Given the description of an element on the screen output the (x, y) to click on. 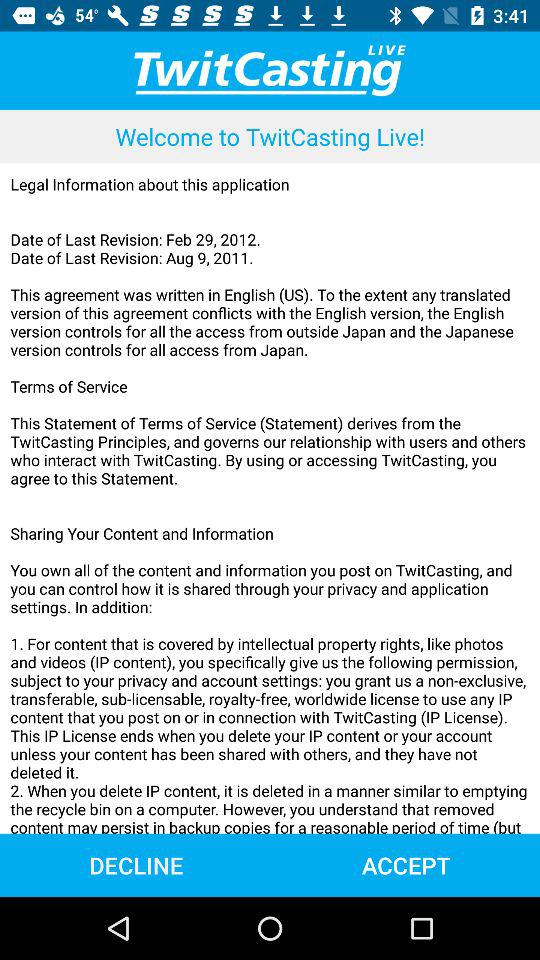
press item next to the accept item (136, 864)
